Given the description of an element on the screen output the (x, y) to click on. 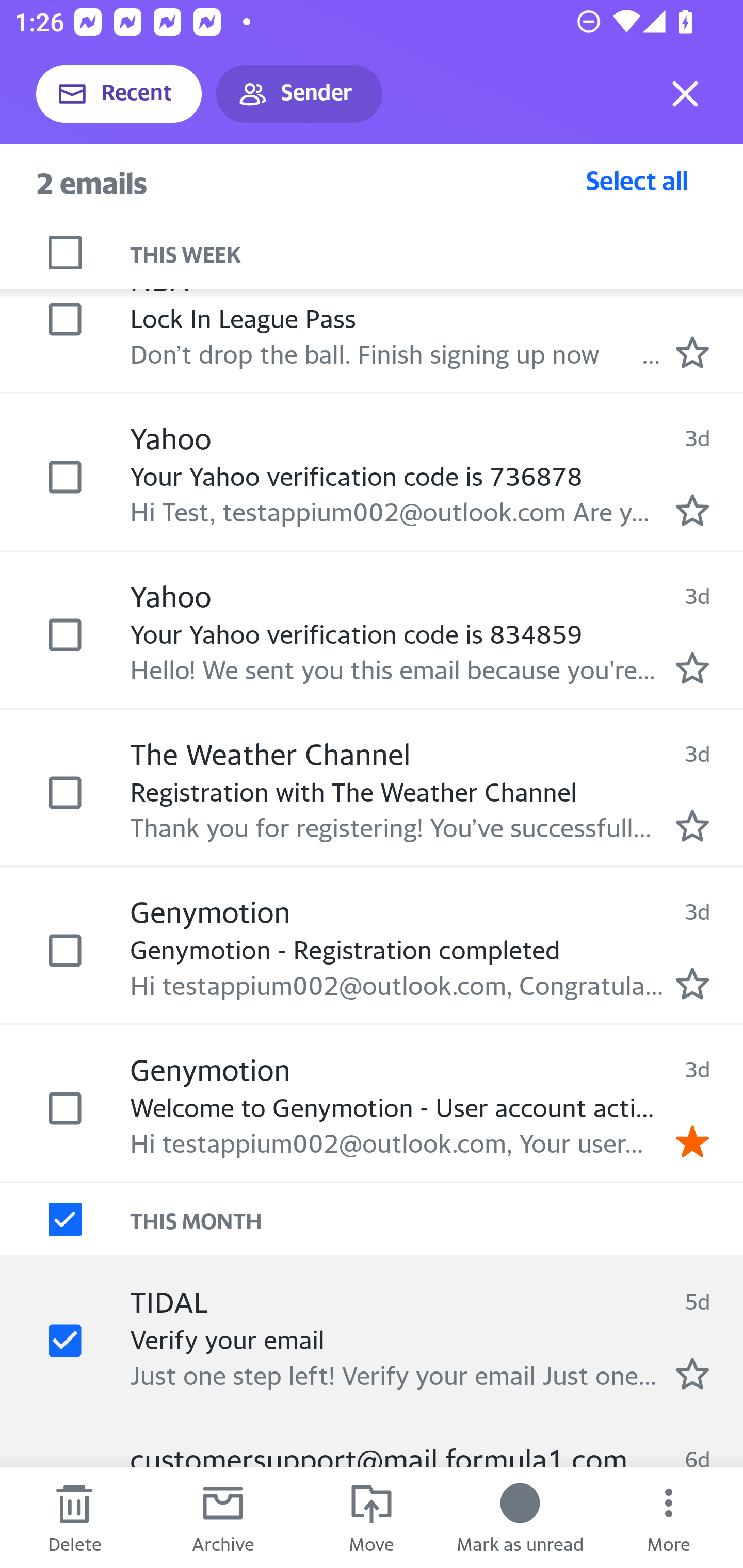
Sender (299, 93)
Exit selection mode (684, 93)
Select all (637, 180)
Mark as starred. (692, 351)
Mark as starred. (692, 510)
Mark as starred. (692, 667)
Mark as starred. (692, 825)
Mark as starred. (692, 983)
Remove star. (692, 1140)
THIS MONTH (436, 1218)
Mark as starred. (692, 1373)
Delete (74, 1517)
Archive (222, 1517)
Move (371, 1517)
Mark as unread (519, 1517)
More (668, 1517)
